Given the description of an element on the screen output the (x, y) to click on. 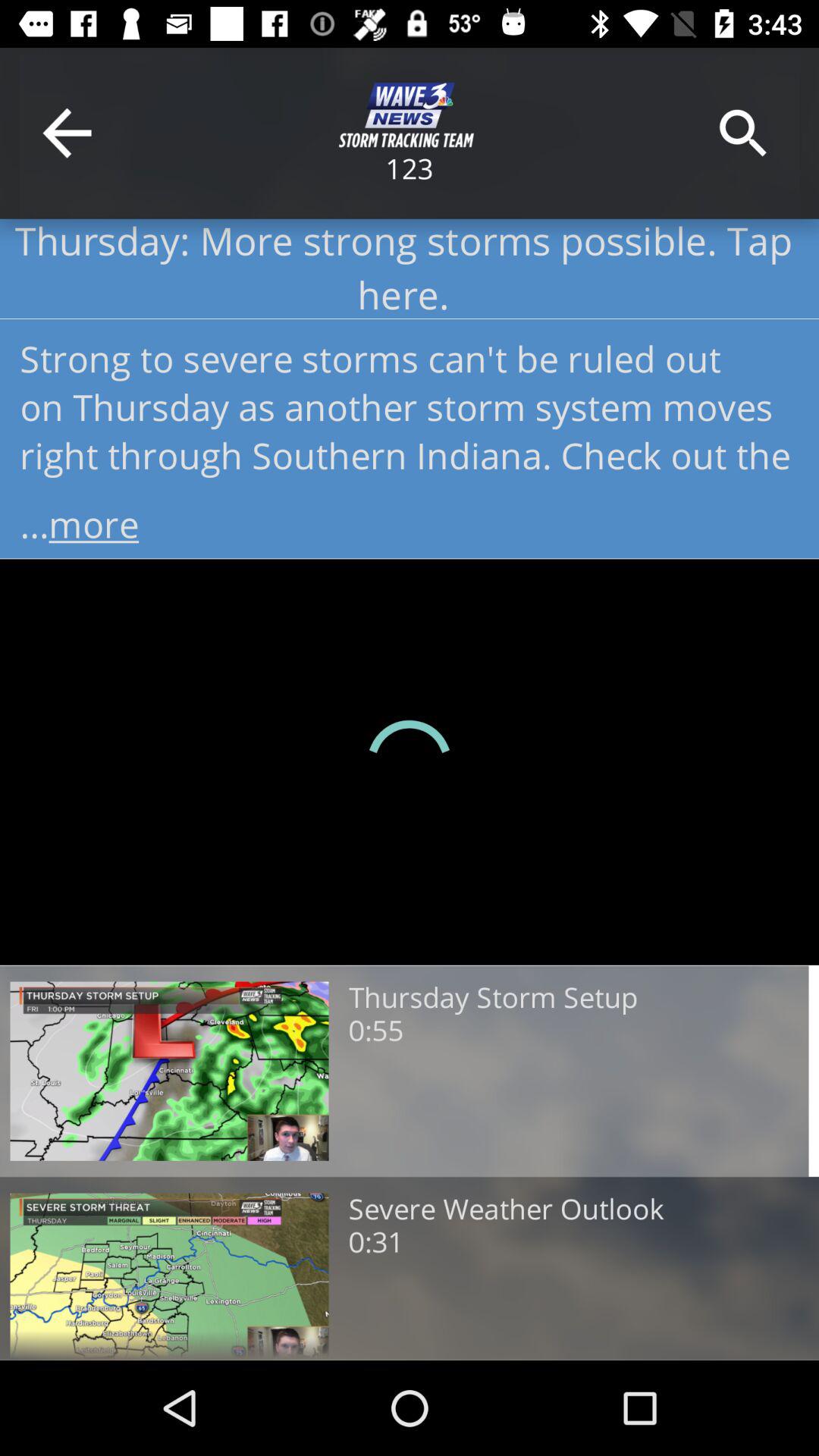
turn off the app below the 0:55 app (506, 1209)
